Given the description of an element on the screen output the (x, y) to click on. 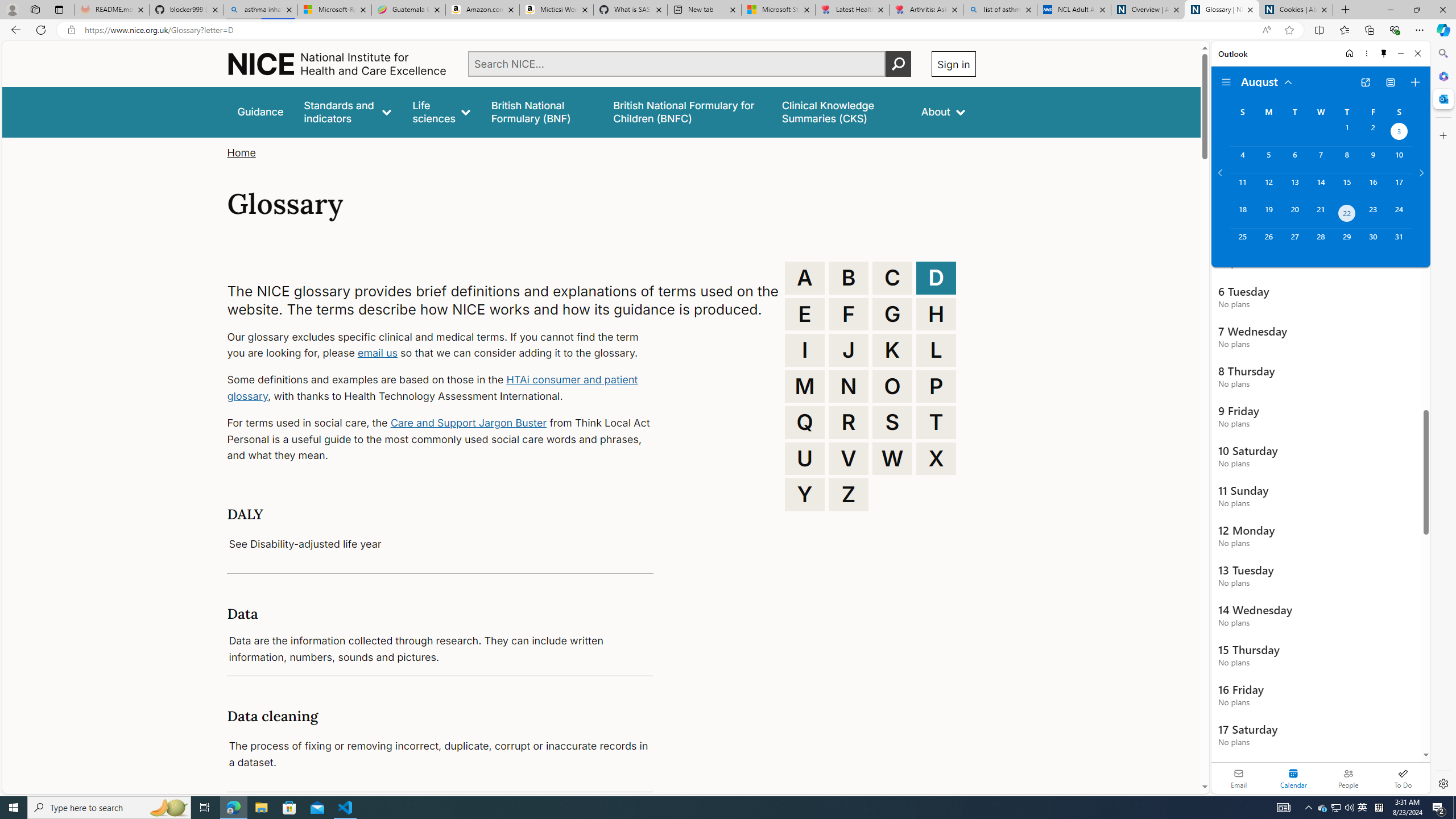
Thursday, August 1, 2024.  (1346, 132)
Email (1238, 777)
I (804, 350)
Life sciences (440, 111)
Sunday, August 25, 2024.  (1242, 241)
Friday, August 23, 2024.  (1372, 214)
V (848, 458)
Friday, August 2, 2024.  (1372, 132)
U (804, 458)
Favorites (1344, 29)
N (848, 385)
View Switcher. Current view is Agenda view (1390, 82)
Folder navigation (1225, 82)
